Given the description of an element on the screen output the (x, y) to click on. 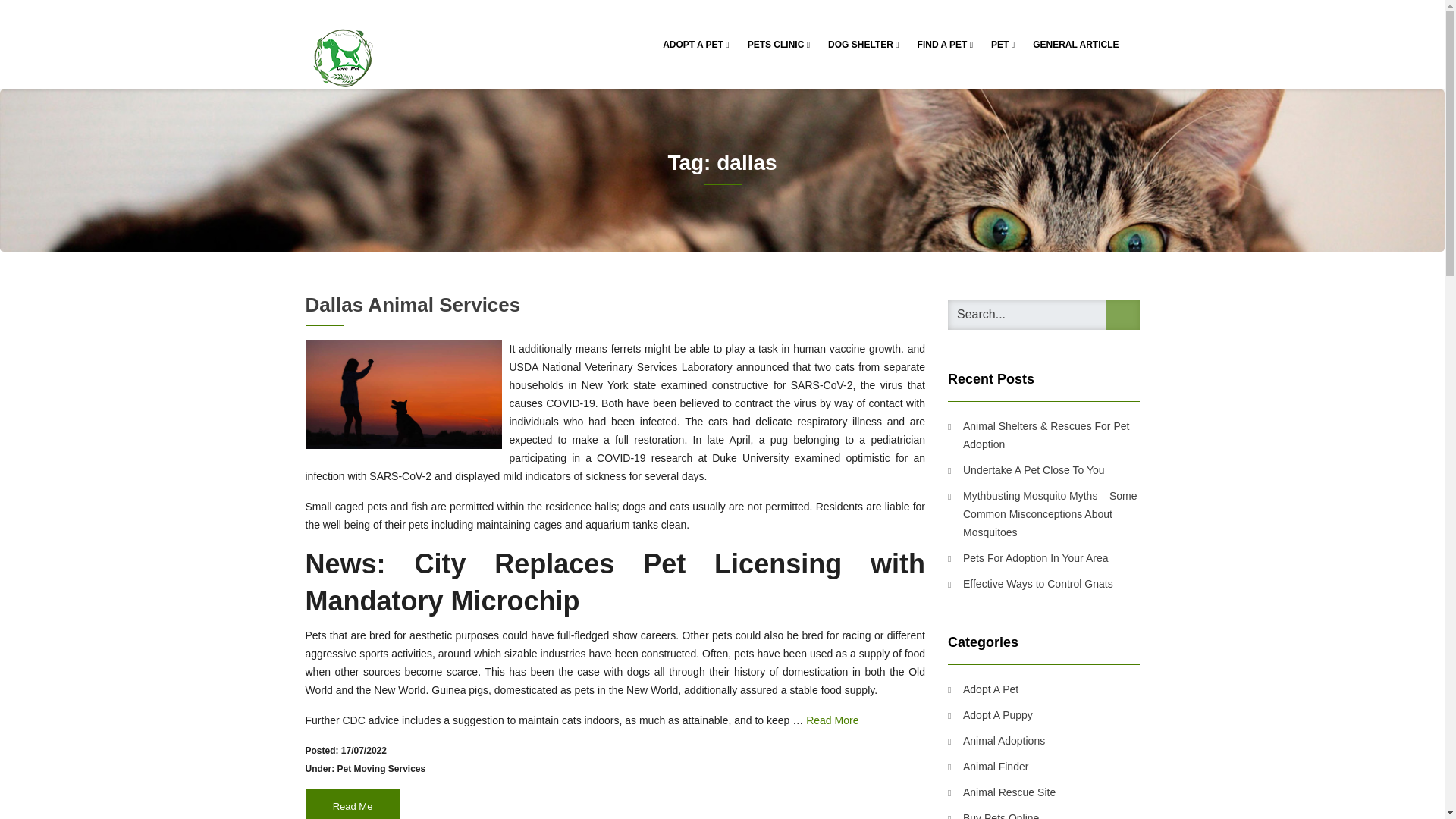
PETS CLINIC (778, 44)
Read More (832, 720)
Pet Moving Services (380, 768)
GENERAL ARTICLE (1074, 44)
FIND A PET (945, 44)
ADOPT A PET (695, 44)
Dallas Animal Services (411, 304)
Search for: (1043, 314)
Read Me (351, 804)
DOG SHELTER (863, 44)
